Given the description of an element on the screen output the (x, y) to click on. 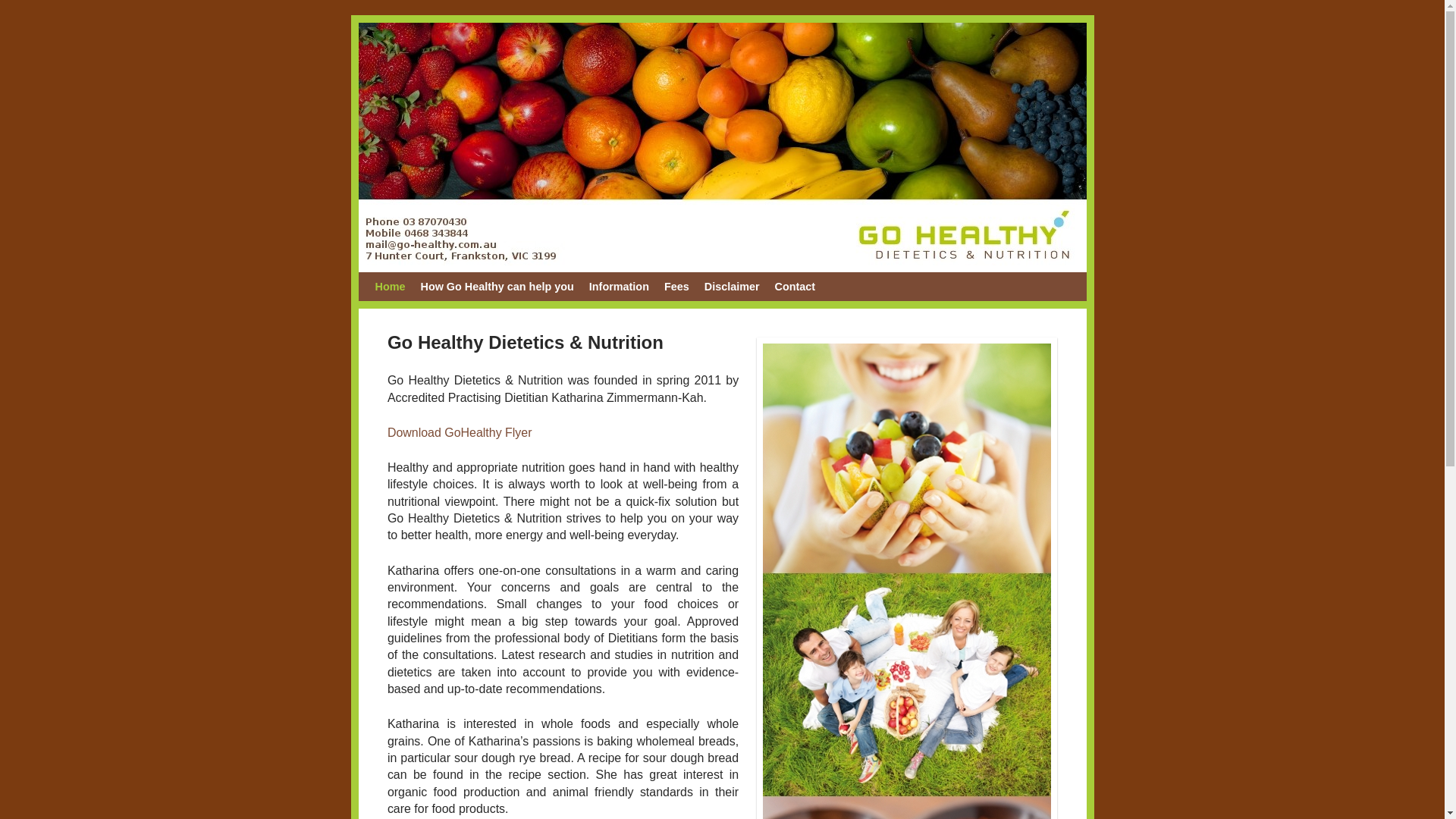
Contact Element type: text (795, 286)
Skip to secondary content Element type: text (450, 286)
Skip to primary content Element type: text (442, 286)
How Go Healthy can help you Element type: text (496, 286)
Disclaimer Element type: text (731, 286)
Fees Element type: text (676, 286)
Home Element type: text (389, 286)
Information Element type: text (618, 286)
Download GoHealthy Flyer Element type: text (459, 432)
